Given the description of an element on the screen output the (x, y) to click on. 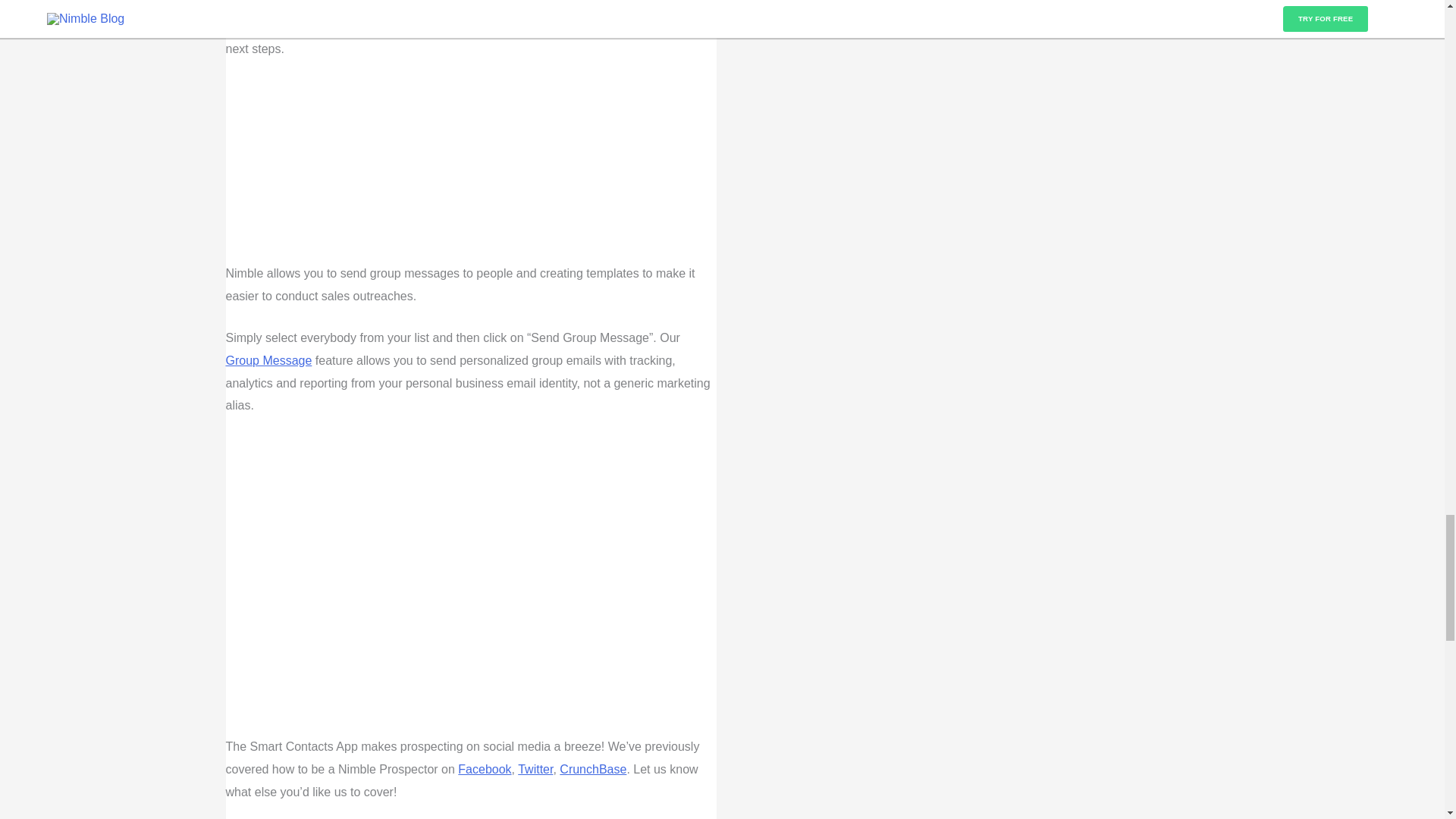
Twitter (535, 768)
Group Message (269, 359)
Facebook (484, 768)
CrunchBase (592, 768)
